Given the description of an element on the screen output the (x, y) to click on. 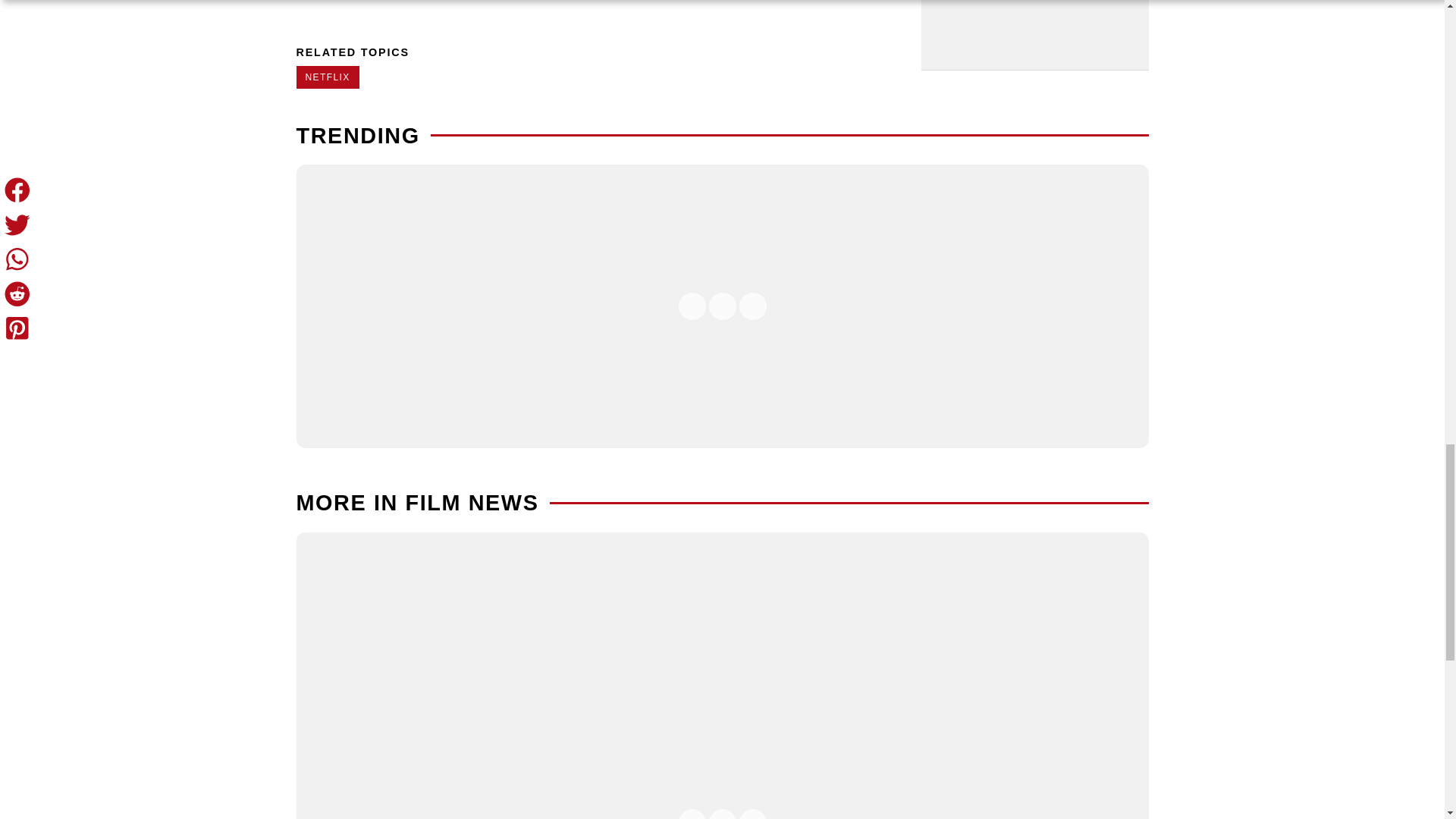
TRENDING (357, 135)
MORE IN FILM NEWS (416, 502)
NETFLIX (326, 77)
